Given the description of an element on the screen output the (x, y) to click on. 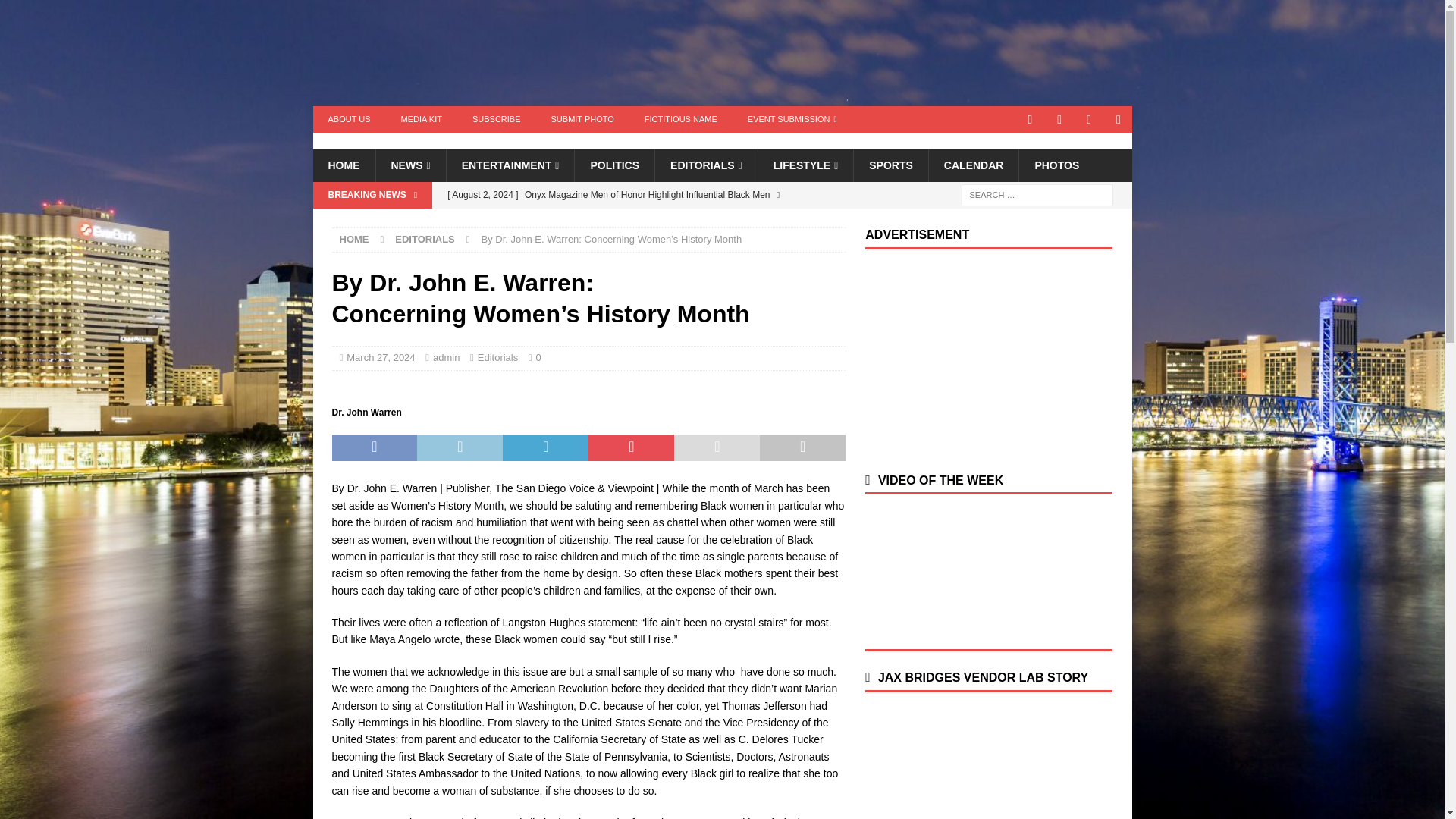
SUBMIT PHOTO (581, 119)
FICTITIOUS NAME (680, 119)
Facebook (1088, 119)
SUBSCRIBE (496, 119)
EVENT SUBMISSION (791, 119)
Free Press of Jacksonville (380, 141)
contact (1029, 119)
ABOUT US (349, 119)
Onyx Magazine Men of Honor Highlight Influential Black Men (640, 207)
twitter (1059, 119)
rss (1118, 119)
MEDIA KIT (421, 119)
